Given the description of an element on the screen output the (x, y) to click on. 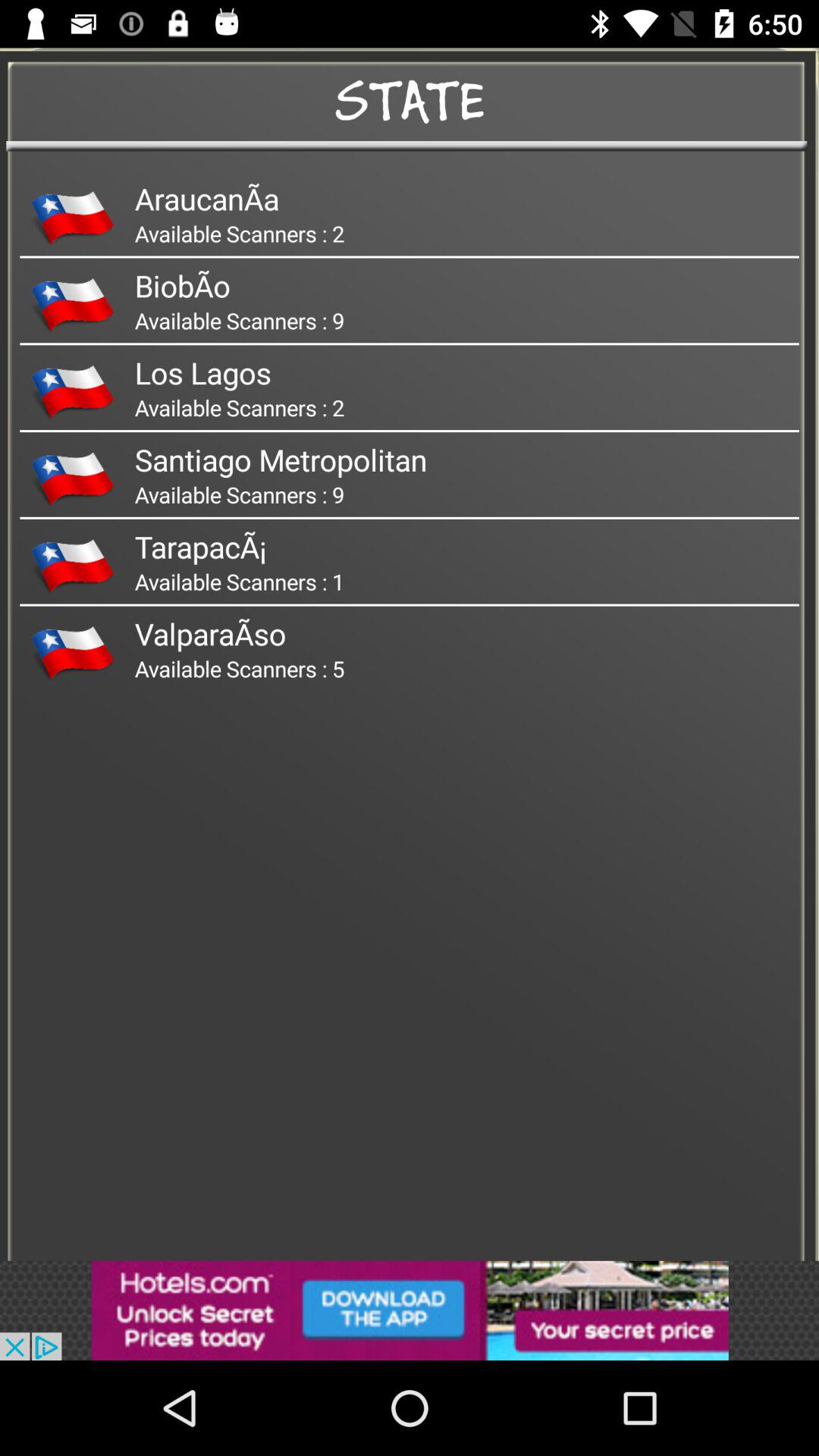
advertisement the option (409, 1310)
